Given the description of an element on the screen output the (x, y) to click on. 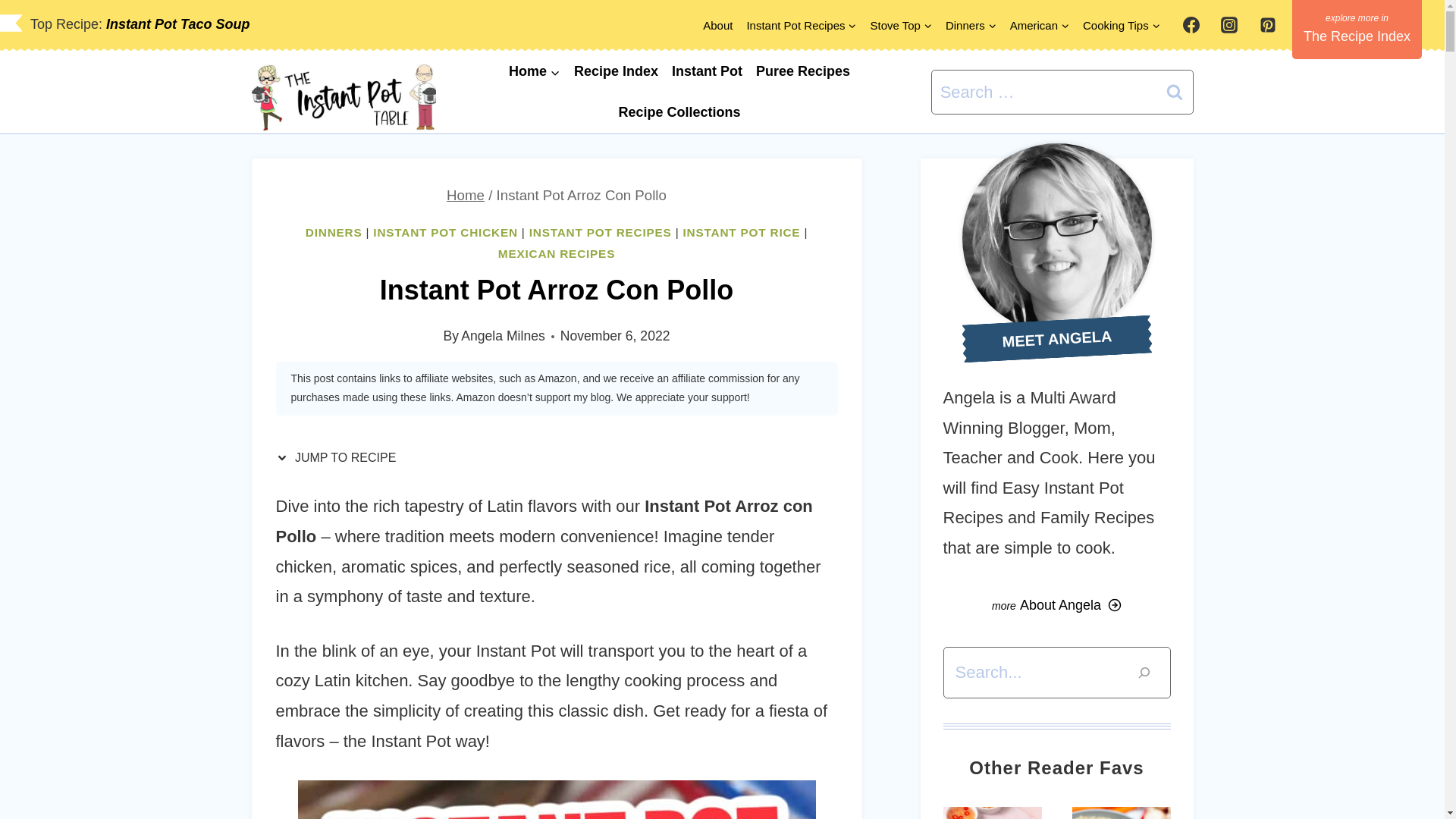
The Recipe Index (1357, 29)
Stove Top (900, 25)
Instant Pot Recipes (801, 25)
Cooking Tips (1121, 25)
American (1039, 25)
Dinners (971, 25)
About (717, 25)
Instant Pot Arroz Con Pollo 1 (556, 799)
Instant Pot Taco Soup (177, 23)
